Given the description of an element on the screen output the (x, y) to click on. 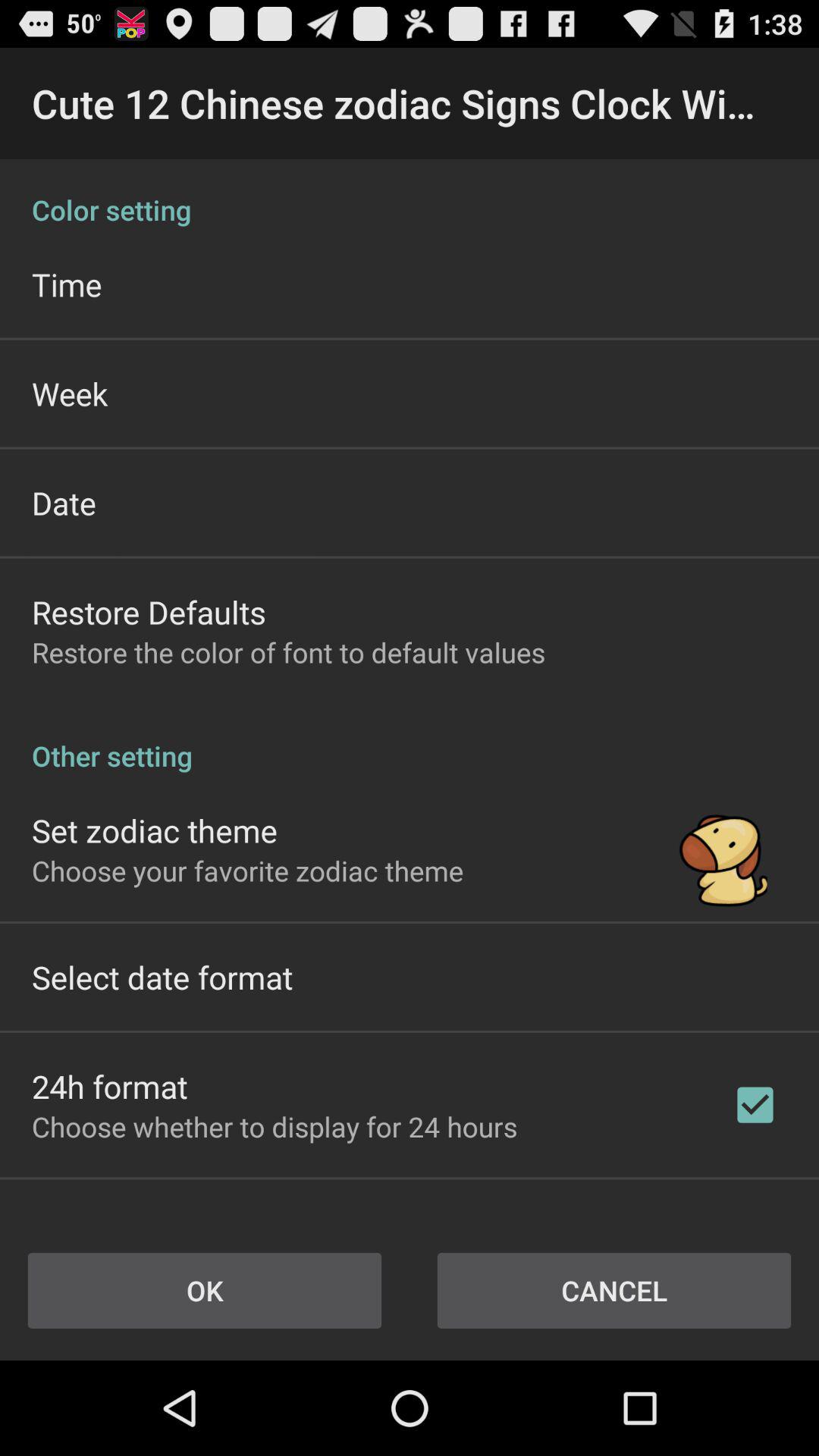
launch button to the left of cancel item (204, 1290)
